Given the description of an element on the screen output the (x, y) to click on. 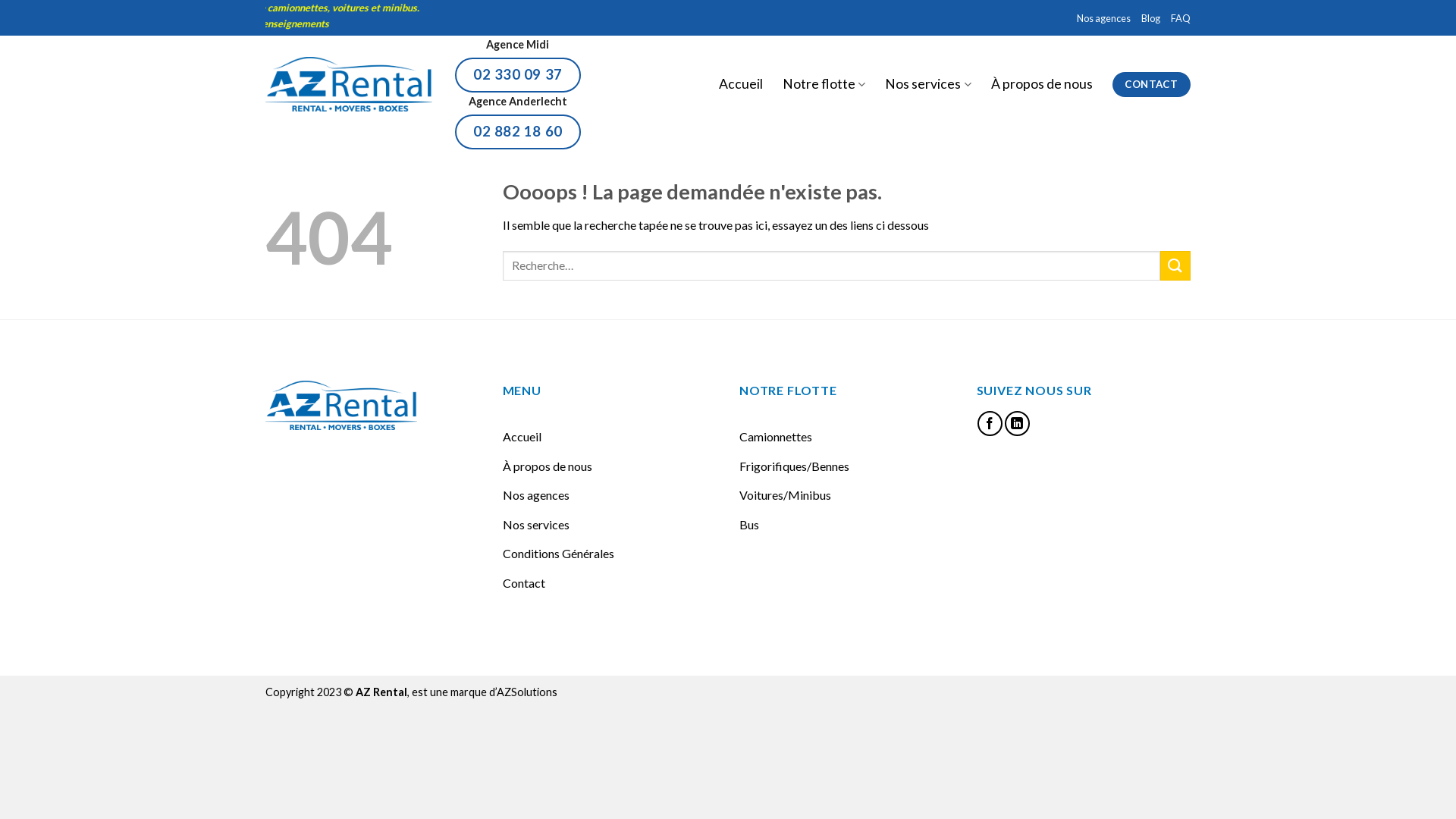
02 882 18 60 Element type: text (517, 131)
Frigorifiques/Bennes Element type: text (794, 465)
Notre flotte Element type: text (823, 83)
Follow on LinkedIn Element type: hover (1016, 423)
Accueil Element type: text (521, 436)
Nos services Element type: text (535, 524)
Camionnettes Element type: text (775, 436)
Voitures/Minibus Element type: text (785, 494)
Bus Element type: text (749, 524)
Nos agences Element type: text (1103, 18)
Nous suivre sur Facebook Element type: hover (989, 423)
FAQ Element type: text (1180, 18)
CONTACT Element type: text (1151, 84)
Contact Element type: text (523, 582)
Nos agences Element type: text (535, 494)
Accueil Element type: text (740, 83)
02 330 09 37 Element type: text (517, 74)
Blog Element type: text (1150, 18)
Nos services Element type: text (927, 83)
